Given the description of an element on the screen output the (x, y) to click on. 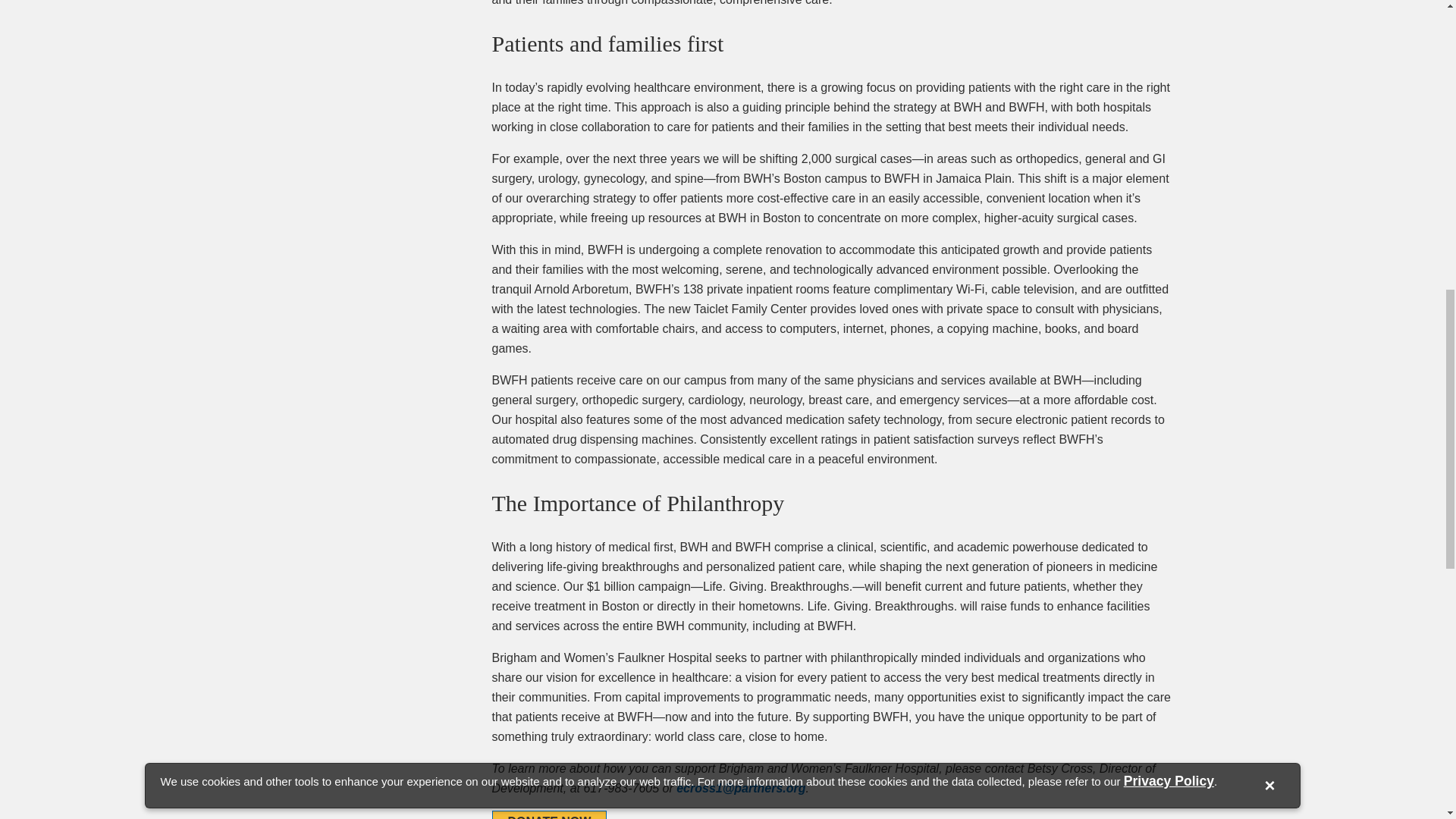
DONATE NOW (549, 814)
